Given the description of an element on the screen output the (x, y) to click on. 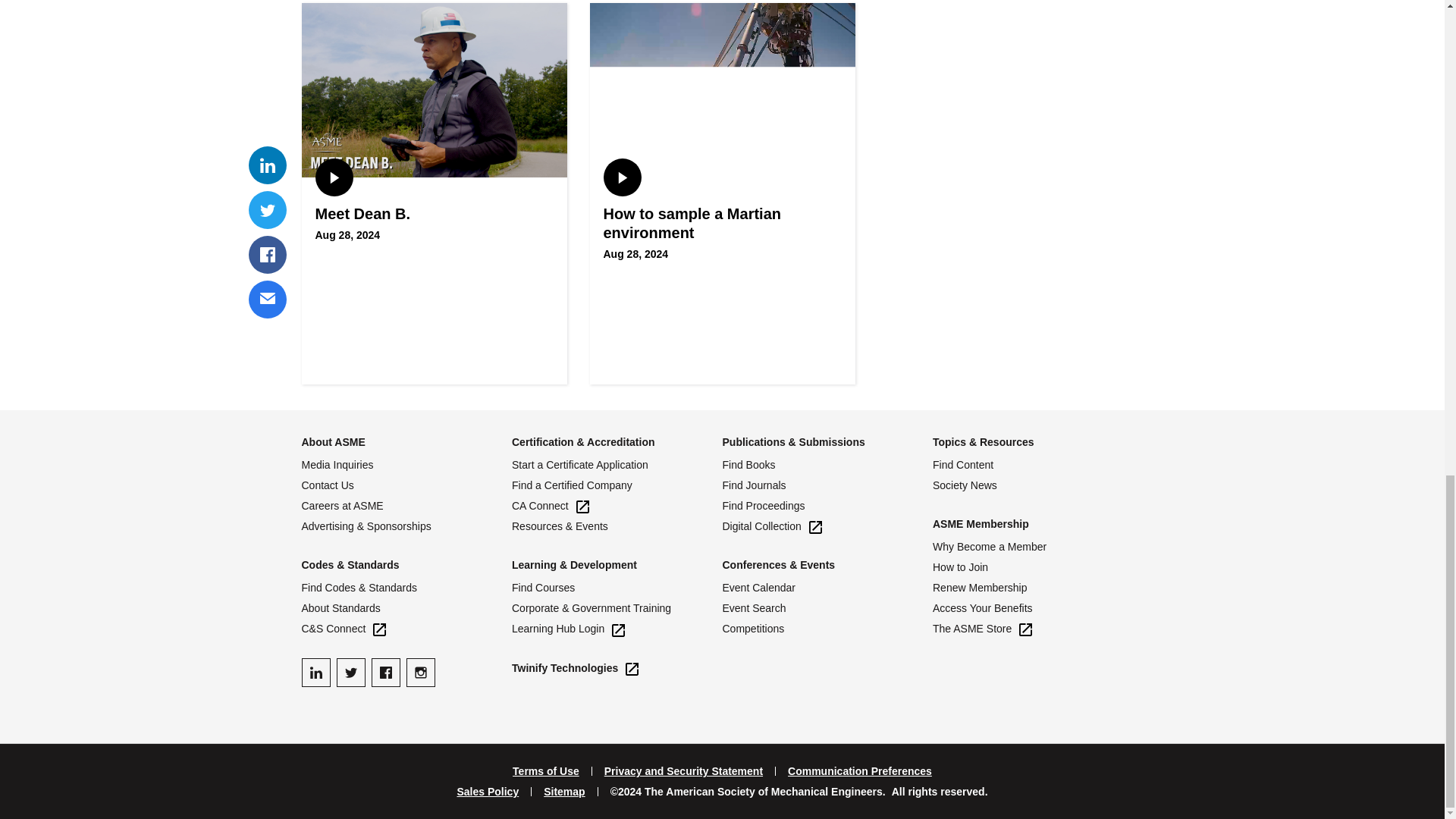
ASME on Facebook (385, 672)
ASME on Instagram (420, 672)
ASME on Twitter (350, 672)
Careers at ASME (406, 505)
Contact Us (406, 485)
ASME on LinkedIn (315, 672)
Media Inquiries (406, 464)
About ASME (333, 441)
